Given the description of an element on the screen output the (x, y) to click on. 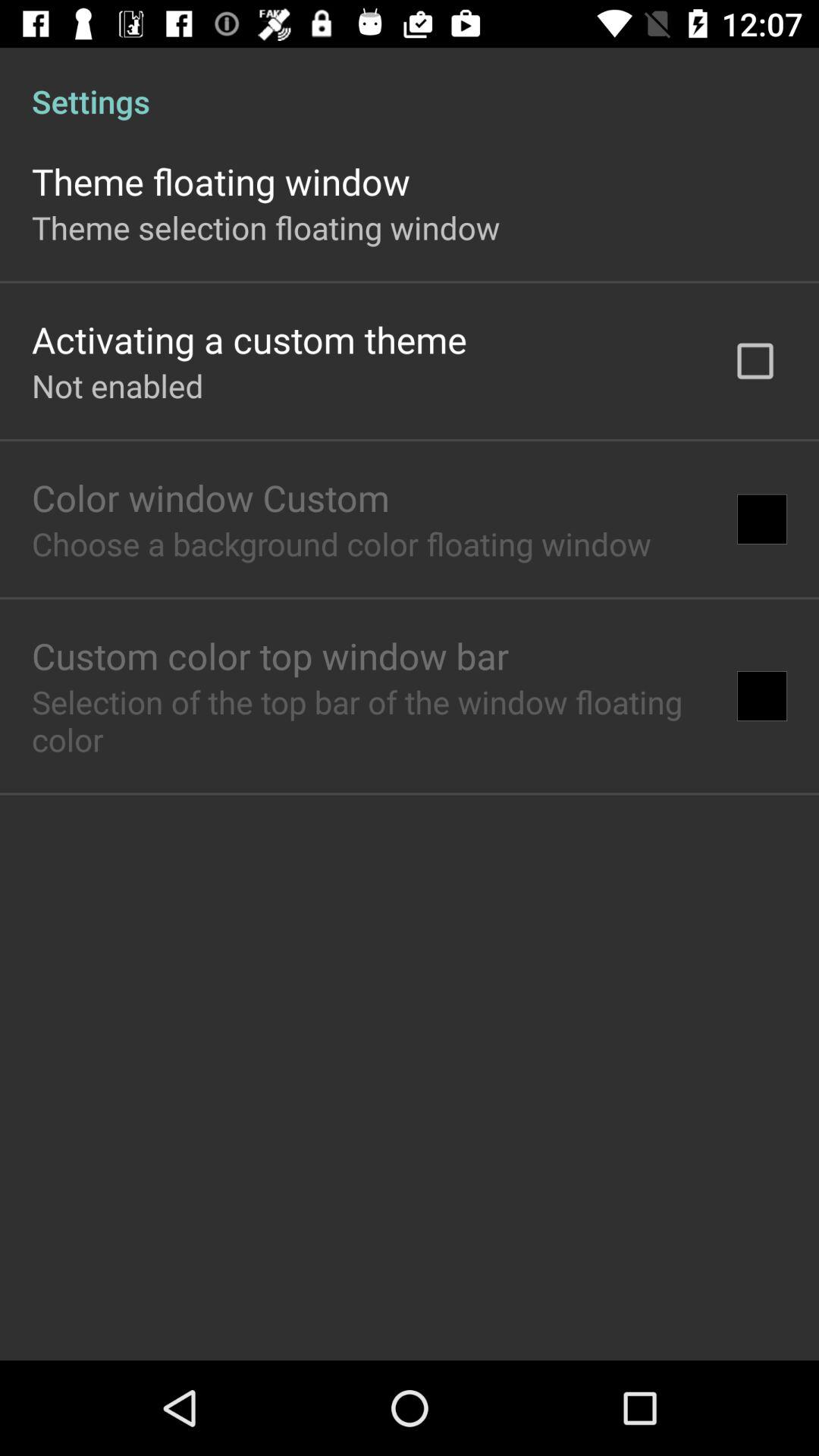
press the icon to the right of selection of the icon (762, 696)
